Given the description of an element on the screen output the (x, y) to click on. 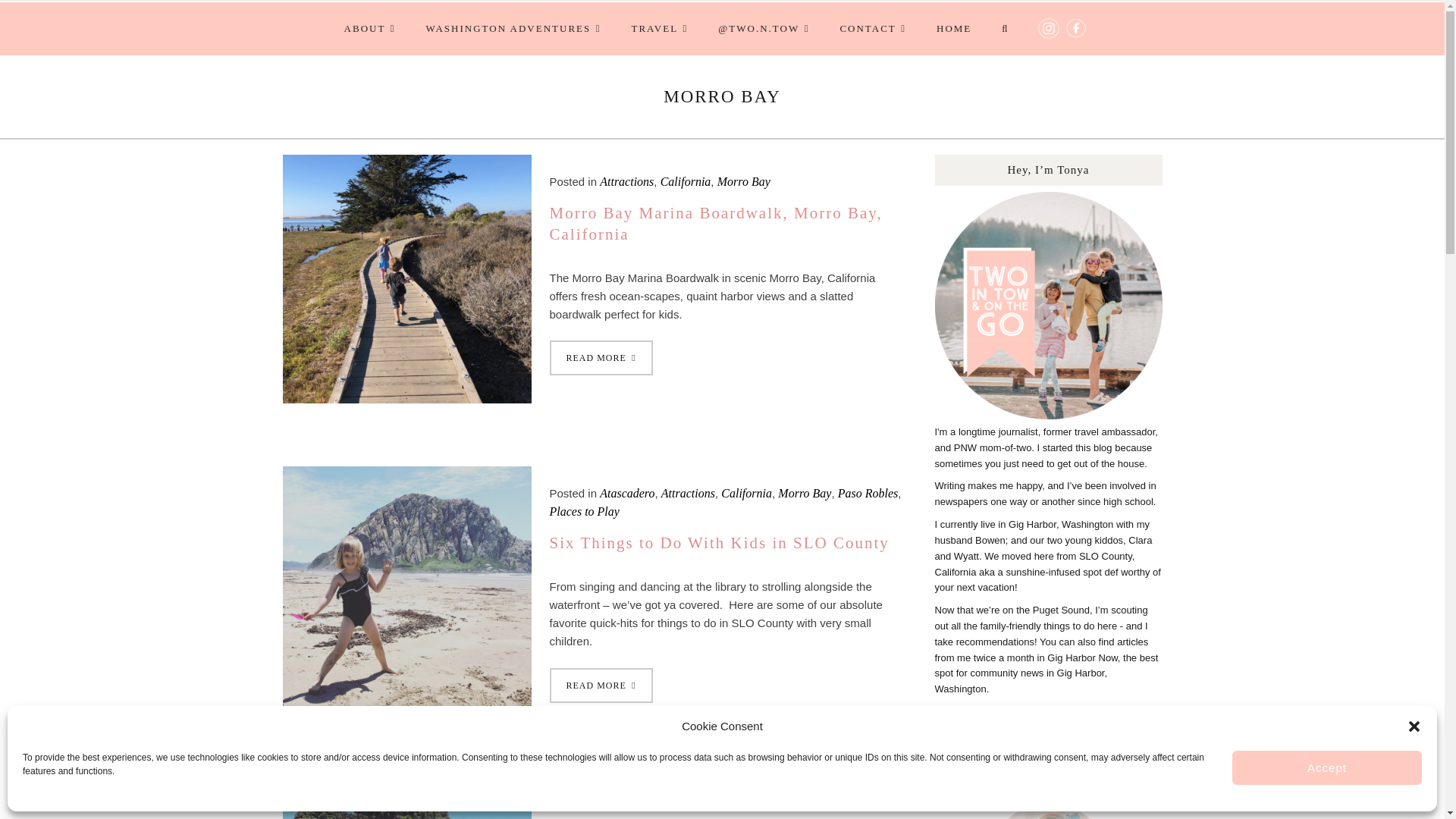
TRAVEL (659, 28)
SKIP TO CONTENT (398, 9)
ABOUT (369, 28)
WASHINGTON ADVENTURES (512, 28)
